Given the description of an element on the screen output the (x, y) to click on. 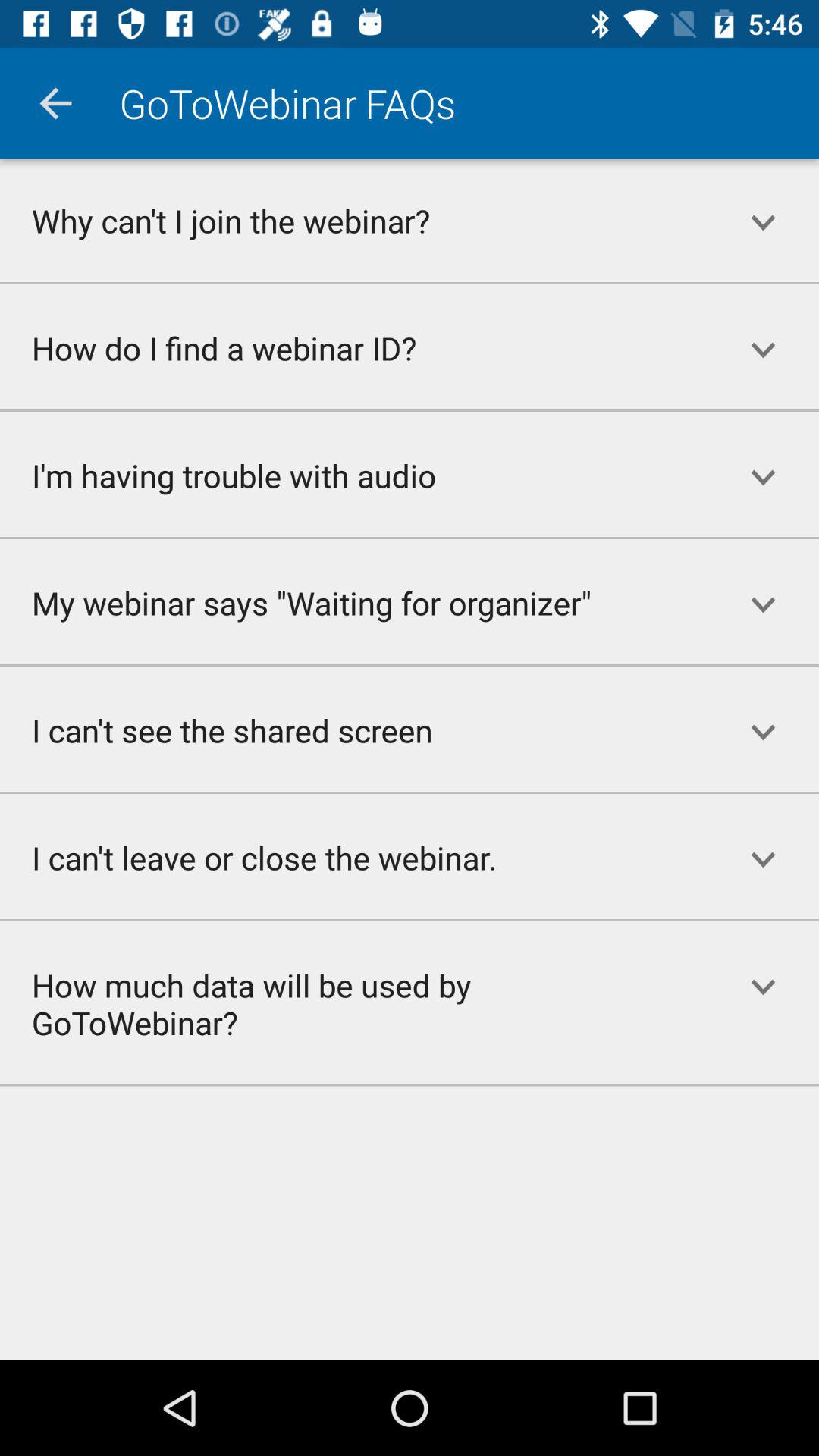
scroll until the how do i item (353, 347)
